Given the description of an element on the screen output the (x, y) to click on. 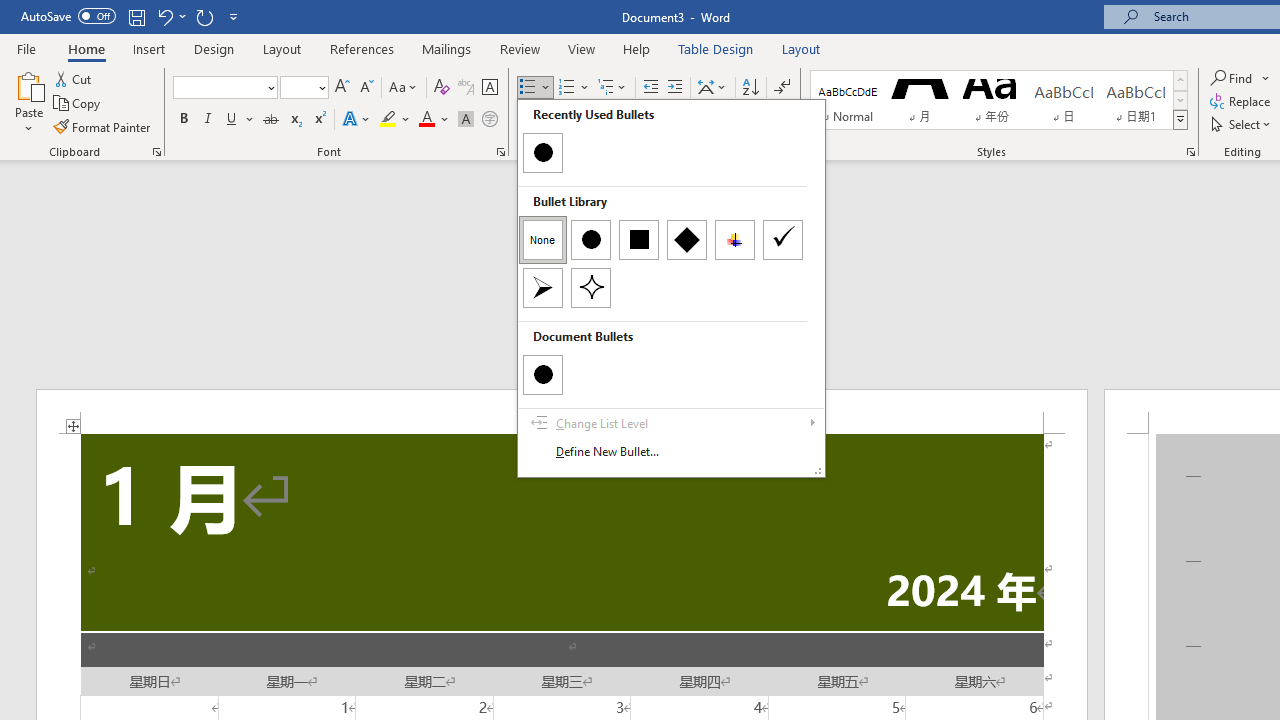
Replace... (1242, 101)
Office Clipboard... (156, 151)
Multilevel List (613, 87)
Numbering (566, 87)
Sort... (750, 87)
Enclose Characters... (489, 119)
Font (218, 87)
Copy (78, 103)
Text Highlight Color Yellow (388, 119)
Design (214, 48)
Undo Apply Quick Style (170, 15)
References (362, 48)
Text Highlight Color (395, 119)
Paste (28, 102)
Change Case (404, 87)
